Given the description of an element on the screen output the (x, y) to click on. 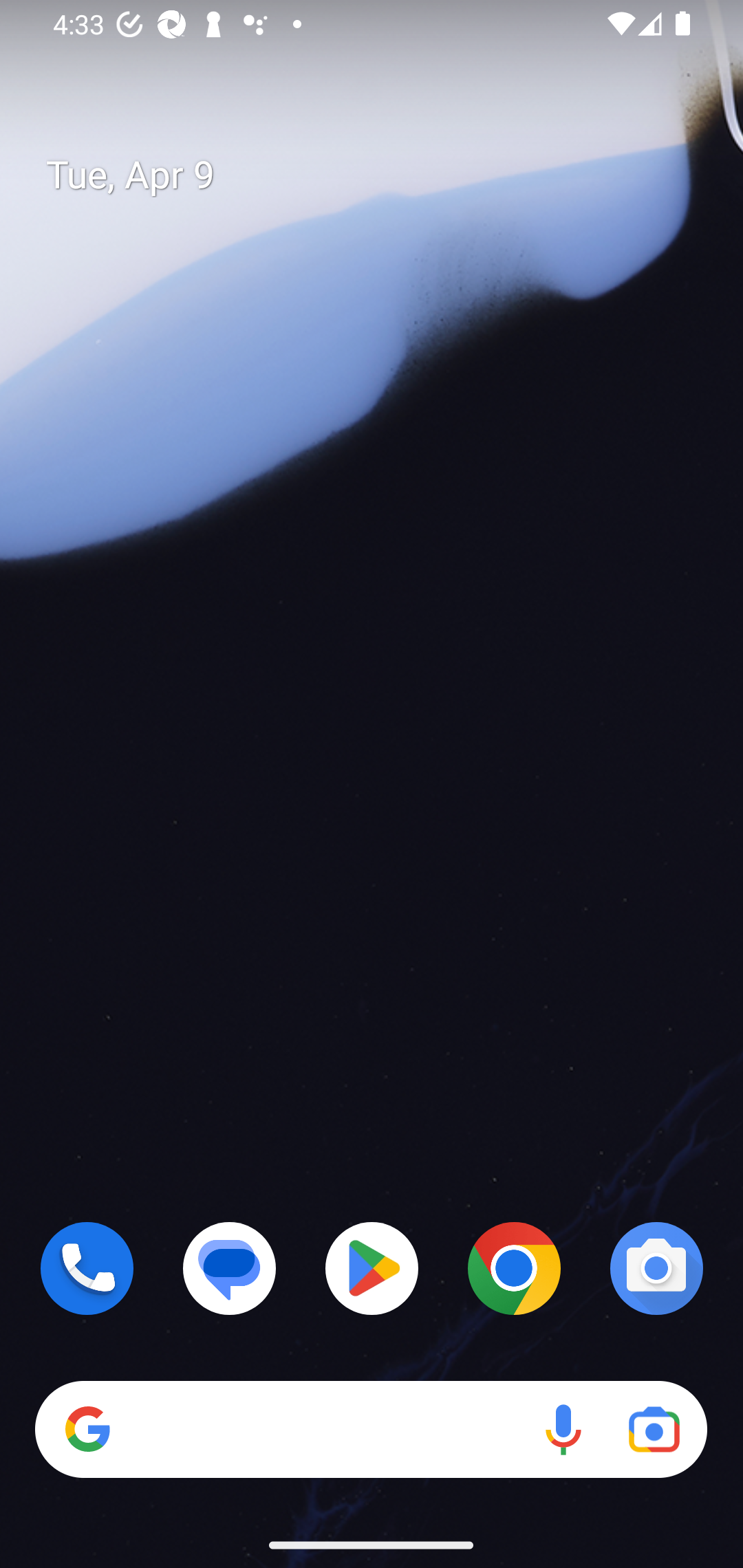
Tue, Apr 9 (386, 175)
Phone (86, 1268)
Messages (229, 1268)
Play Store (371, 1268)
Chrome (513, 1268)
Camera (656, 1268)
Voice search (562, 1429)
Google Lens (653, 1429)
